Given the description of an element on the screen output the (x, y) to click on. 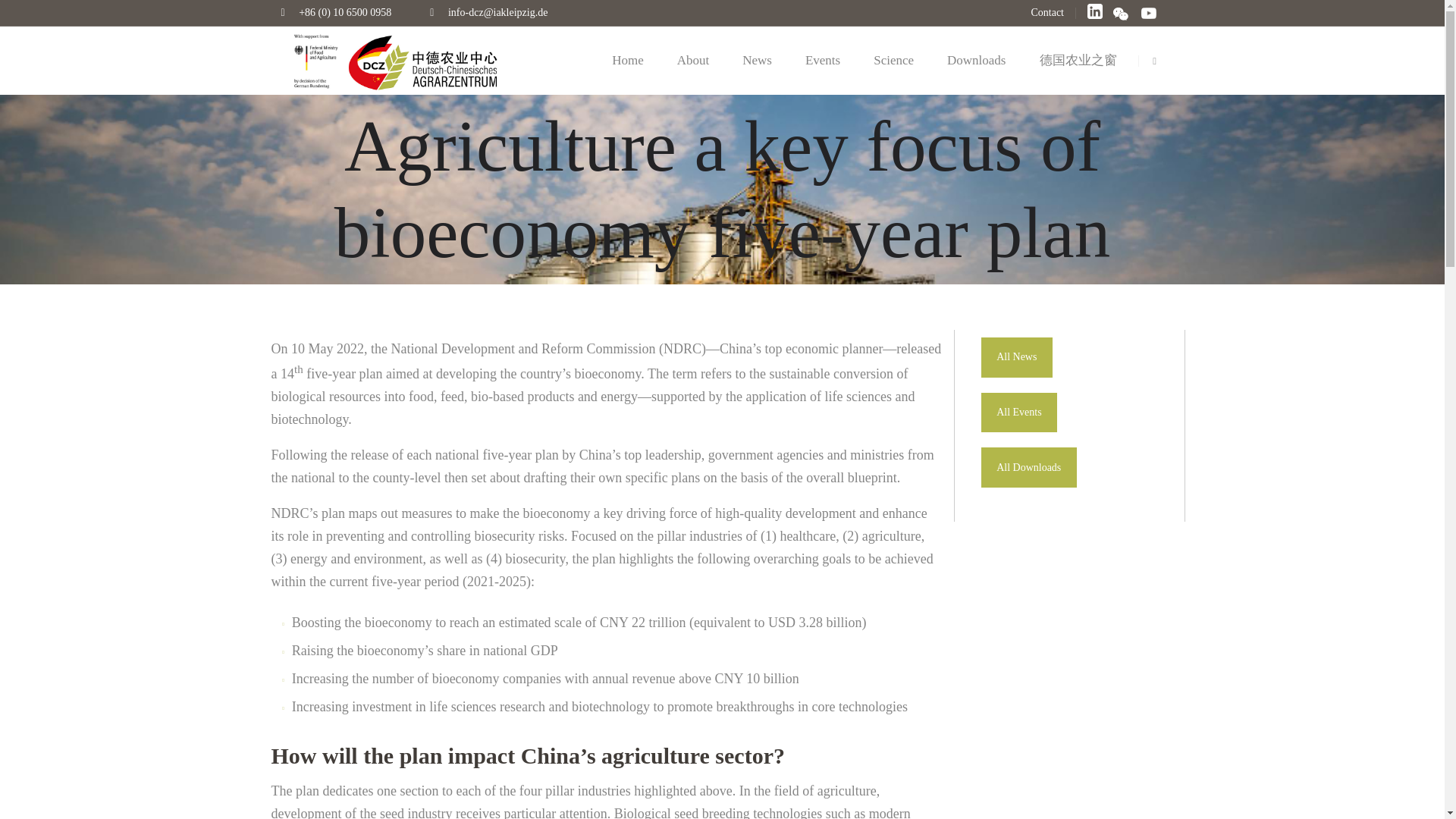
Contact (1047, 12)
Search (1156, 105)
